Given the description of an element on the screen output the (x, y) to click on. 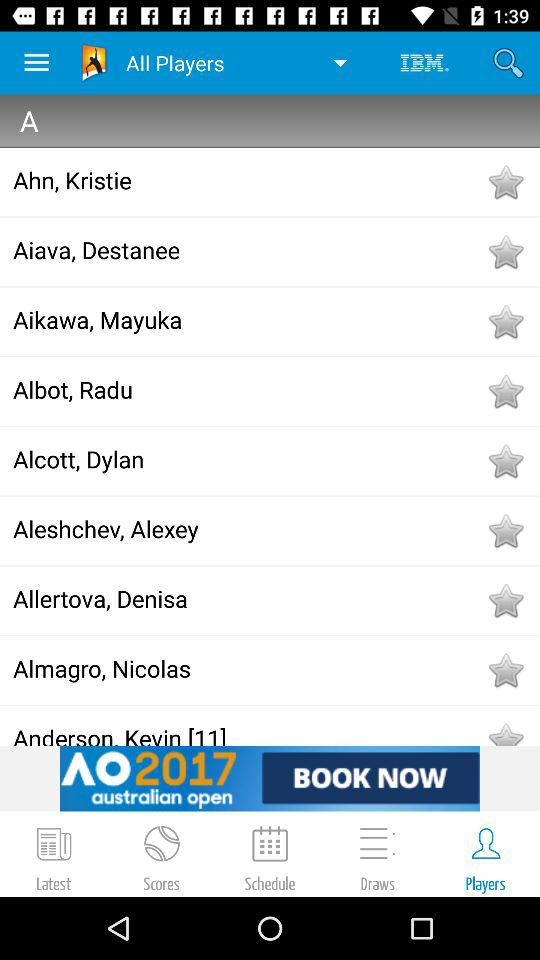
mark as favorite (505, 321)
